Given the description of an element on the screen output the (x, y) to click on. 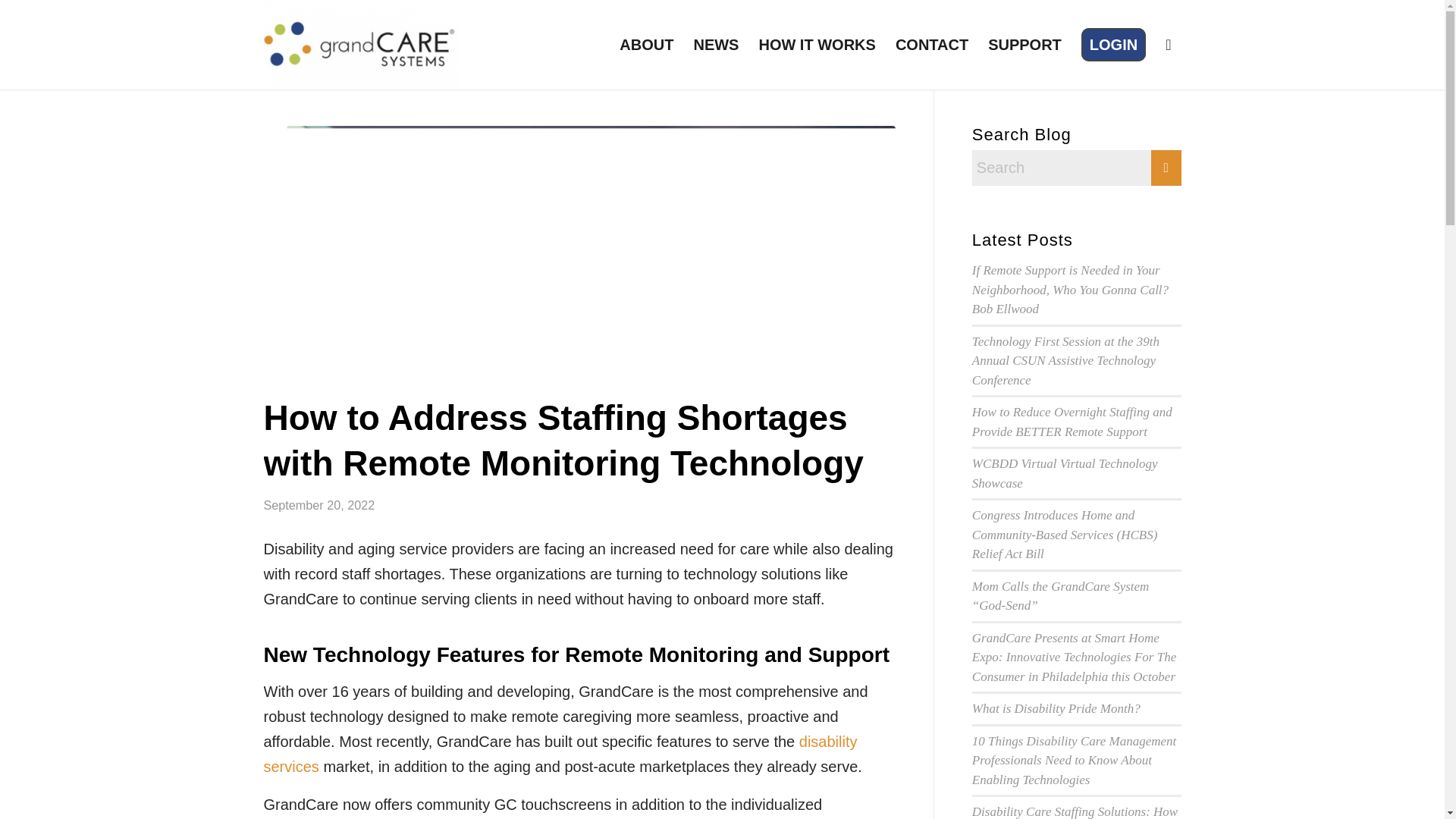
NEWS (715, 44)
HOW IT WORKS (816, 44)
Click to start search (1165, 167)
SUPPORT (1024, 44)
ABOUT (646, 44)
CONTACT (931, 44)
LOGIN (1113, 44)
disability services (560, 753)
